Given the description of an element on the screen output the (x, y) to click on. 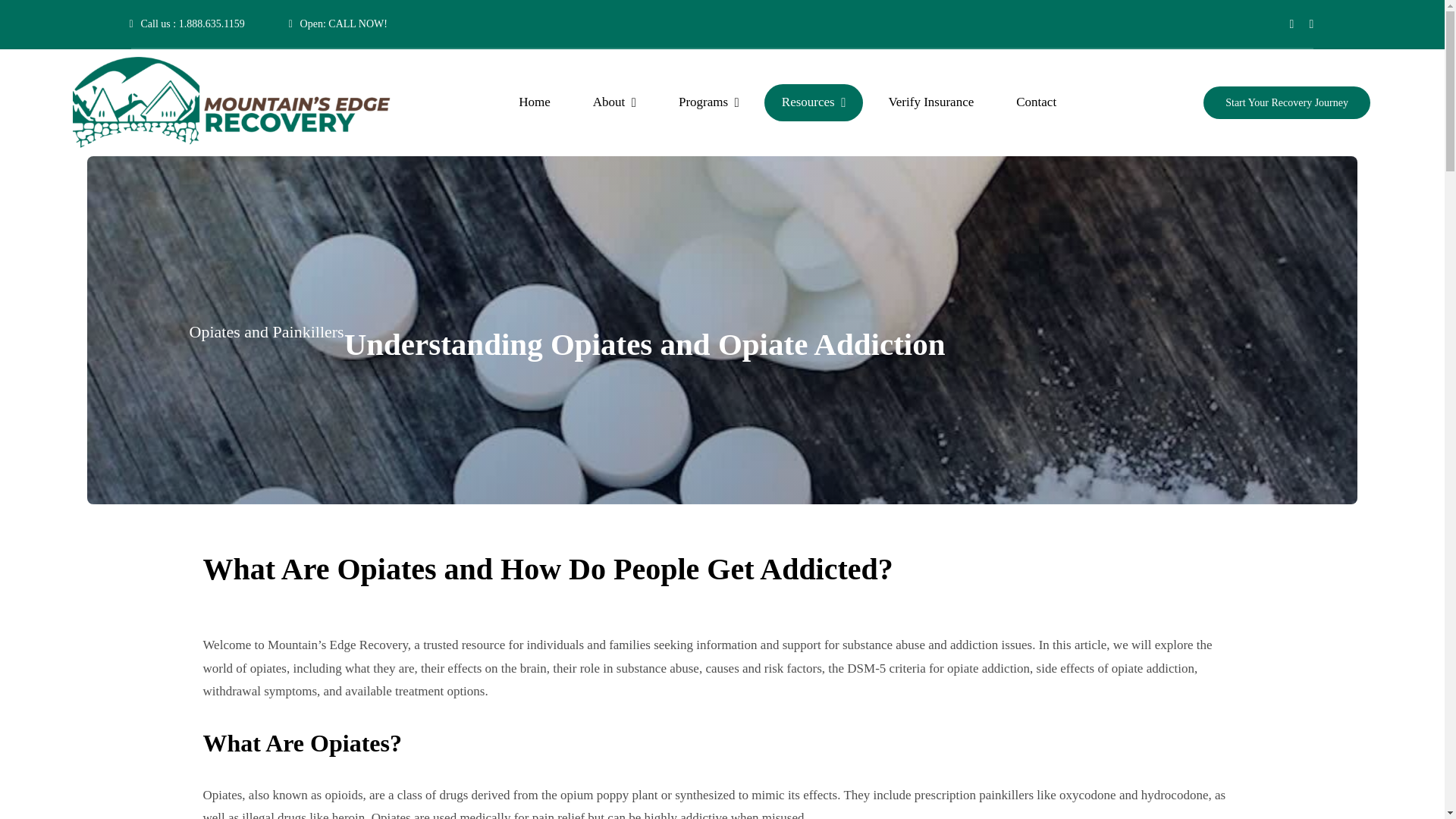
Call us : 1.888.635.1159 (186, 23)
Open: CALL NOW! (337, 23)
Programs (709, 102)
Resources (813, 102)
Home (533, 102)
About (614, 102)
